Given the description of an element on the screen output the (x, y) to click on. 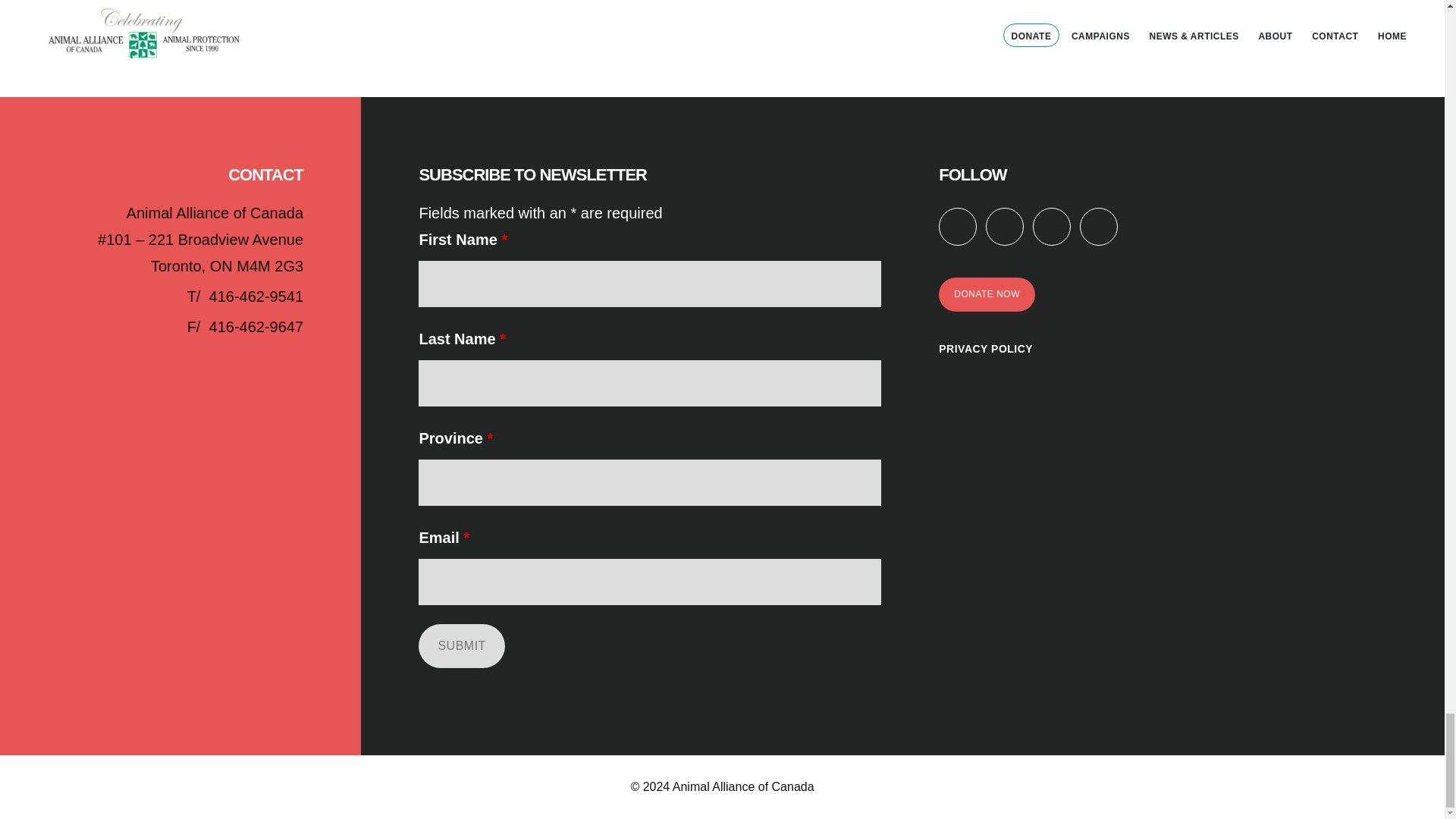
Submit (461, 646)
Submit (461, 646)
DONATE NOW (987, 294)
PRIVACY POLICY (985, 348)
